Given the description of an element on the screen output the (x, y) to click on. 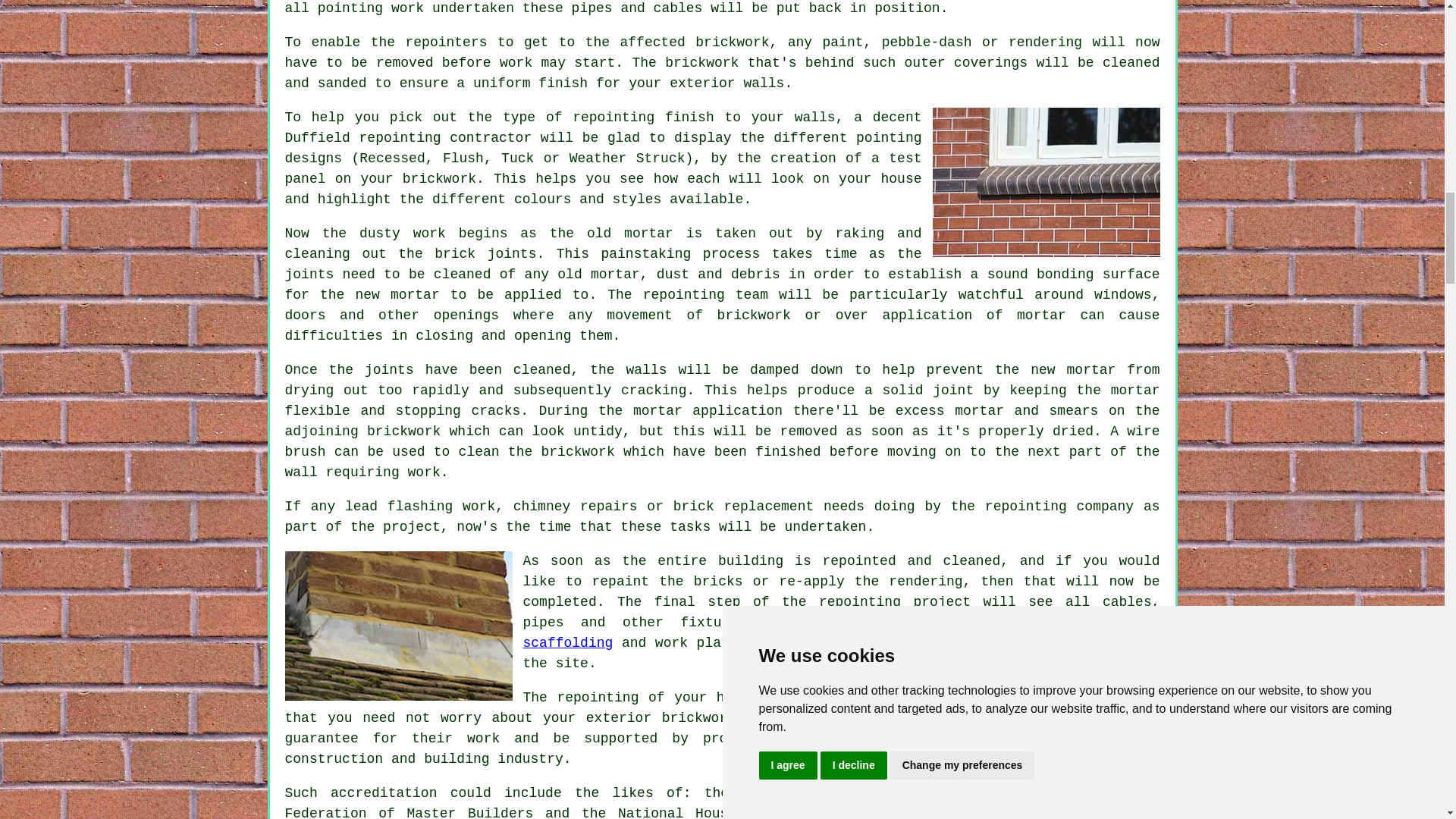
new mortar (397, 294)
cracking (653, 390)
pointing (349, 7)
brickwork (701, 62)
